Given the description of an element on the screen output the (x, y) to click on. 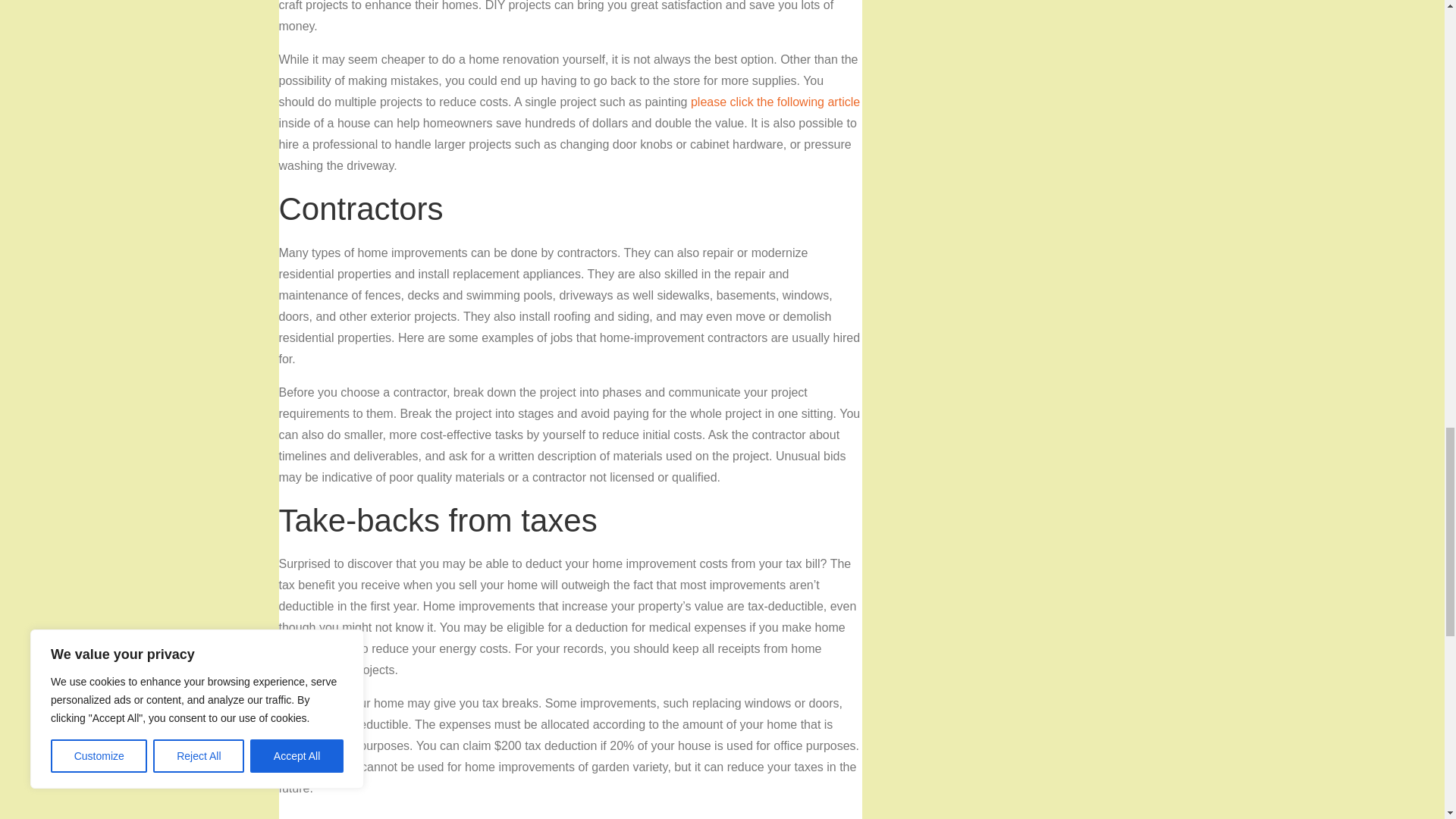
please click the following article (775, 101)
